Given the description of an element on the screen output the (x, y) to click on. 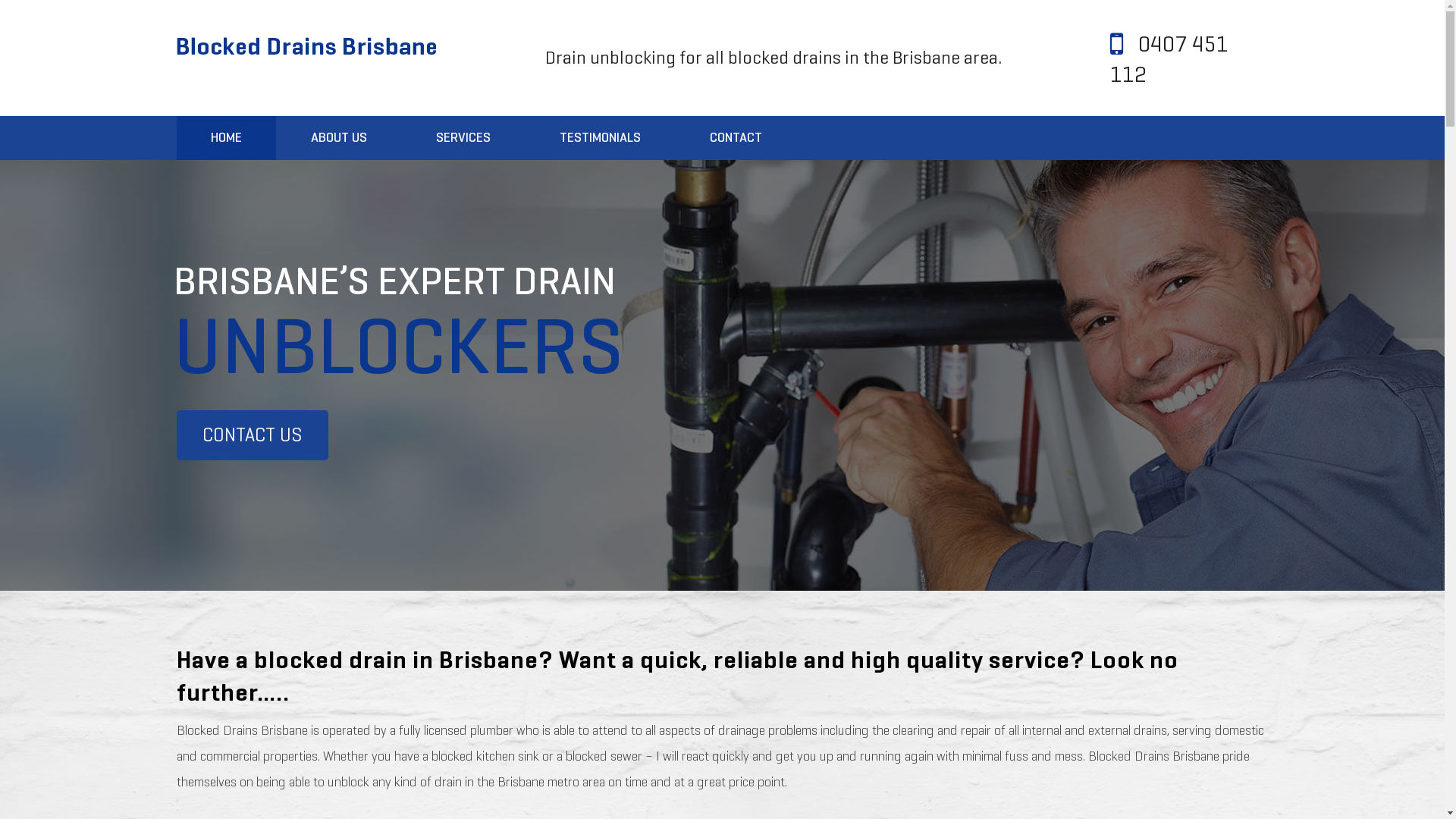
SERVICES Element type: text (462, 138)
ABOUT US Element type: text (338, 138)
CONTACT Element type: text (734, 138)
TESTIMONIALS Element type: text (599, 138)
HOME Element type: text (225, 138)
CONTACT US Element type: text (251, 435)
0407 451 112 Element type: text (1169, 58)
